Given the description of an element on the screen output the (x, y) to click on. 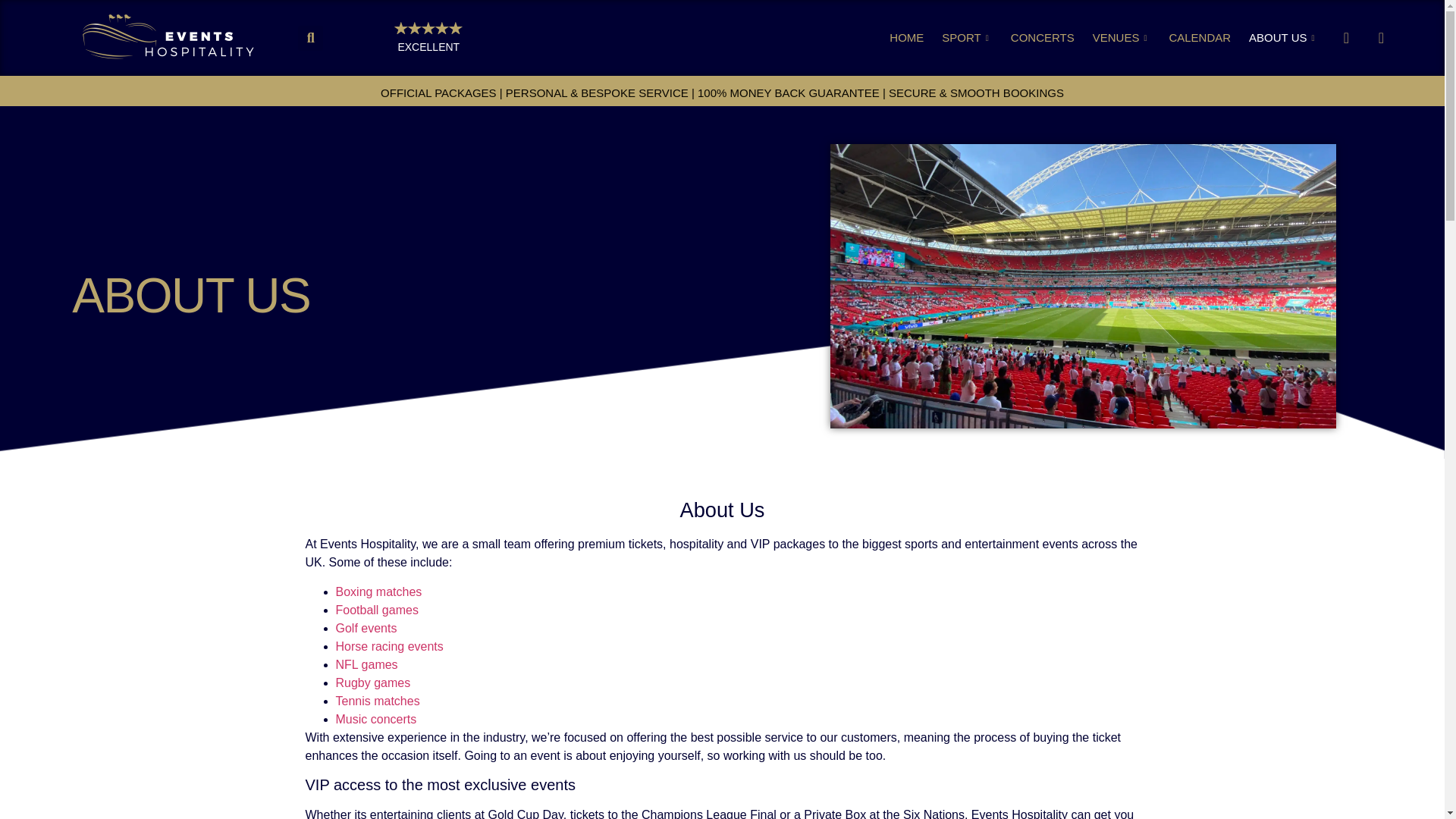
Events Hospitality (168, 37)
CONCERTS (1042, 37)
SPORT (966, 37)
HOME (905, 37)
EXCELLENT (428, 46)
VENUES (1121, 37)
Review Rating (428, 28)
